Given the description of an element on the screen output the (x, y) to click on. 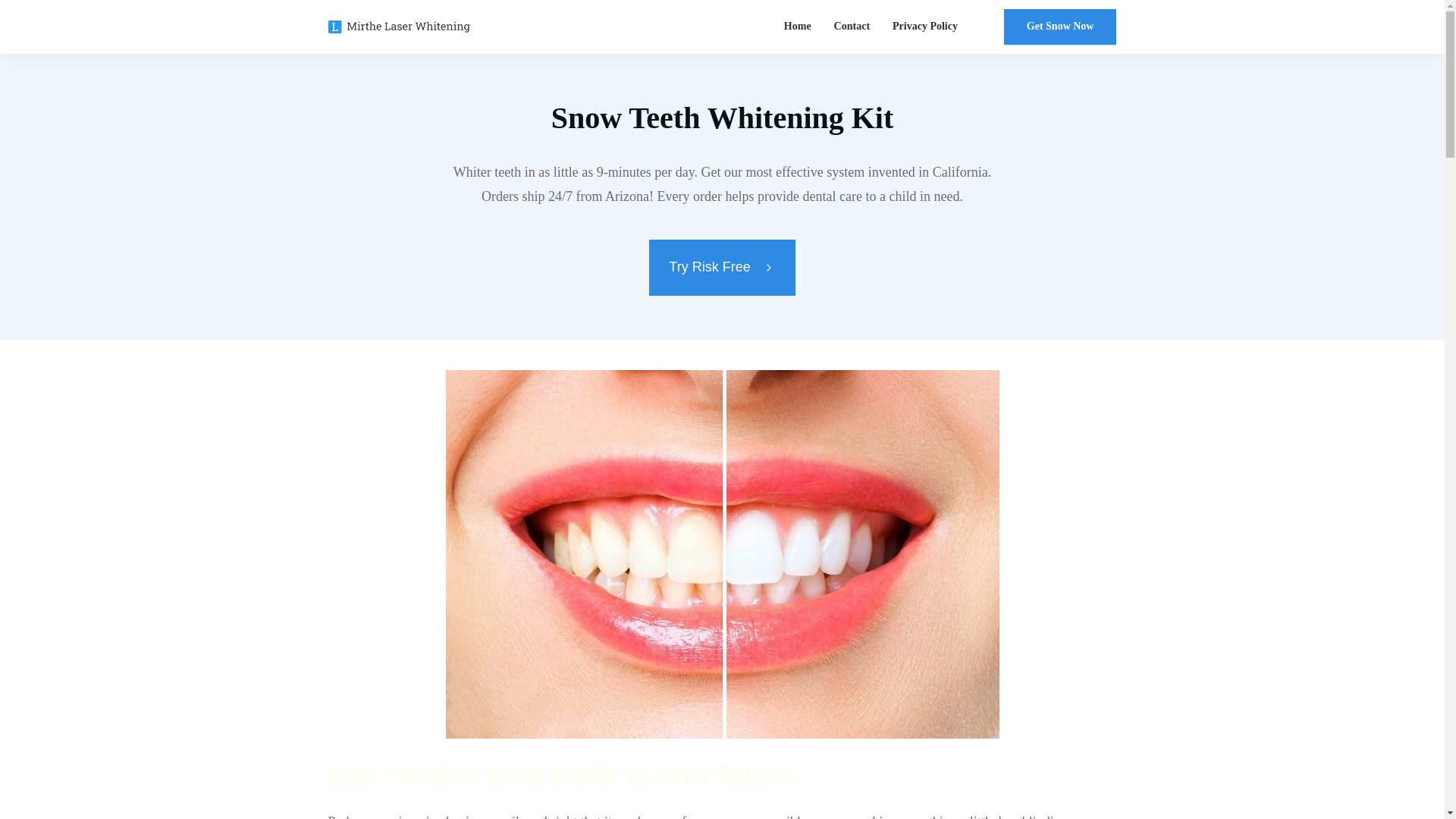
Privacy Policy (925, 25)
Get Snow Now (1060, 27)
Contact (851, 25)
Try Risk Free (721, 267)
Home (797, 25)
